Given the description of an element on the screen output the (x, y) to click on. 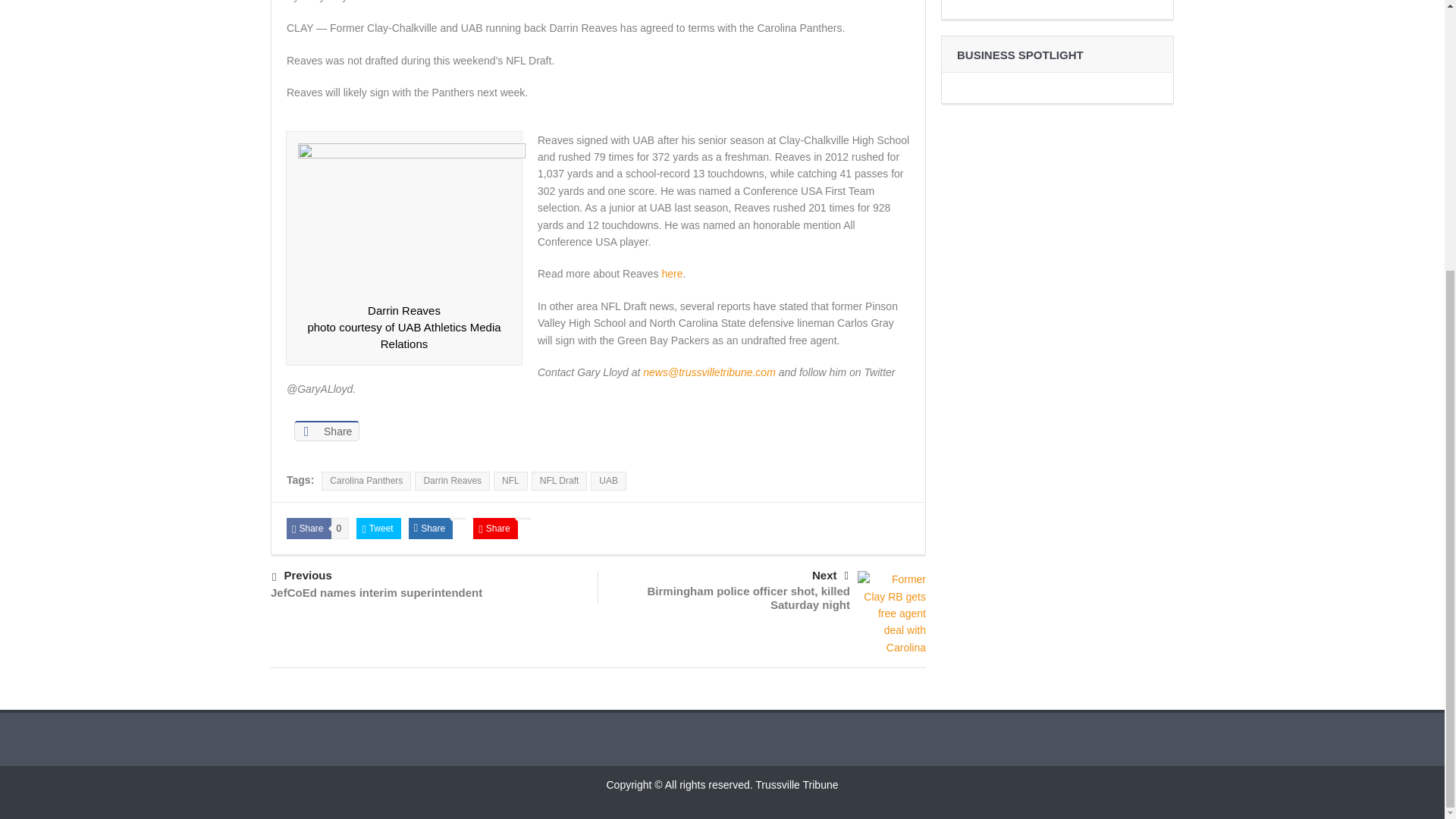
Darrin Reaves (411, 218)
Share on Facebook (326, 430)
